Given the description of an element on the screen output the (x, y) to click on. 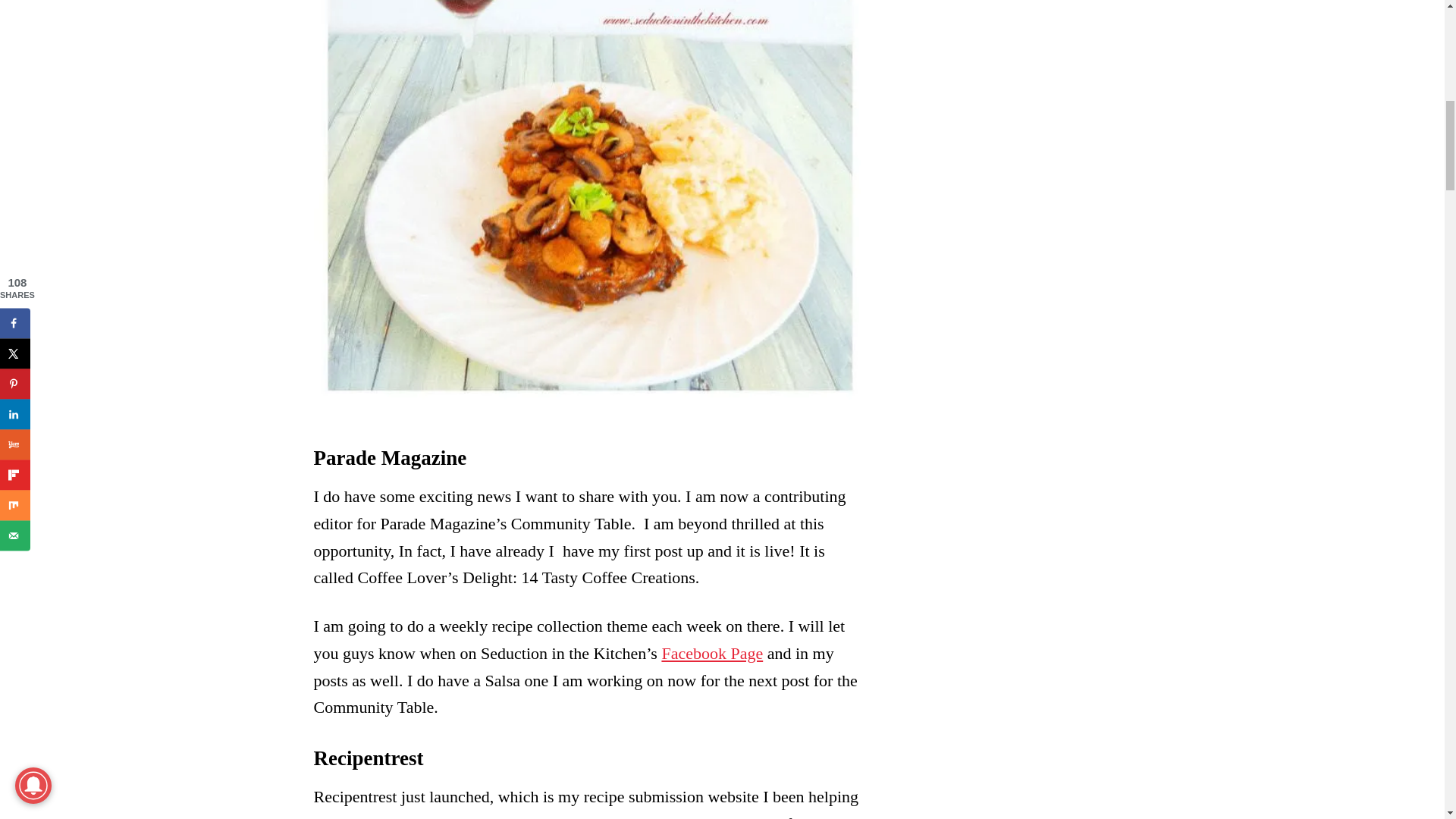
Facebook Page (711, 652)
